Given the description of an element on the screen output the (x, y) to click on. 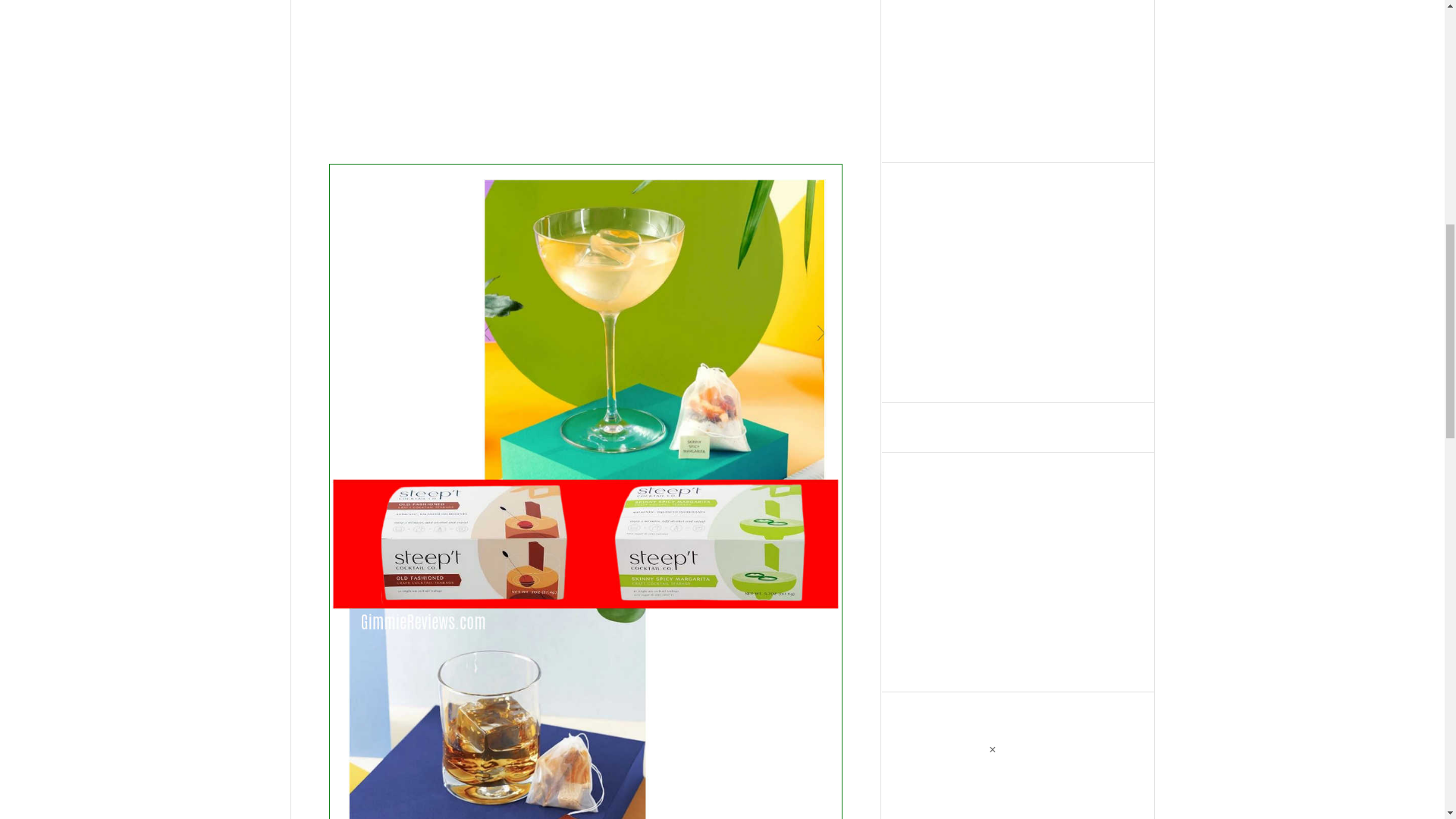
Advertisement (585, 72)
